Given the description of an element on the screen output the (x, y) to click on. 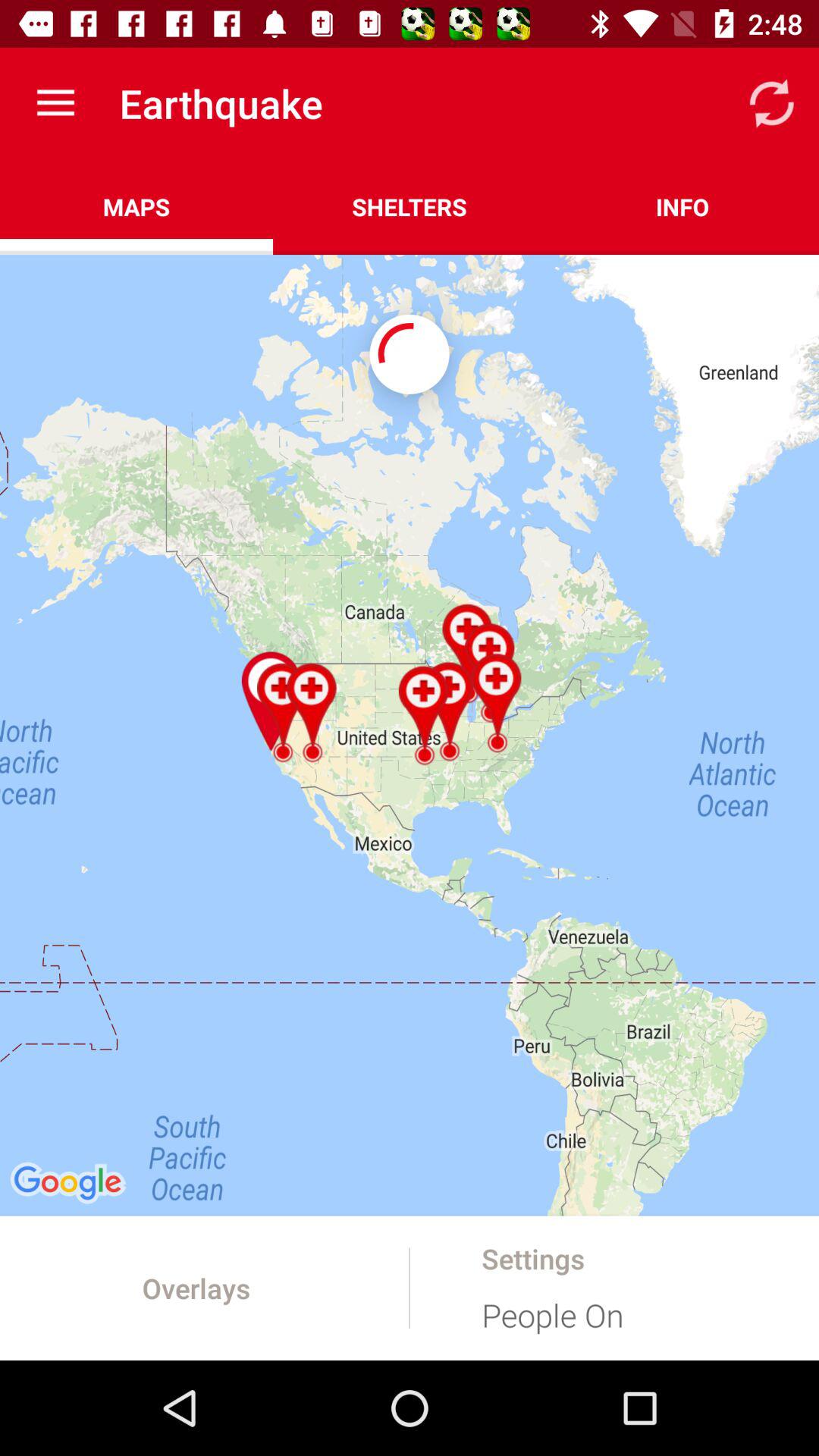
choose item above the overlays icon (409, 734)
